Given the description of an element on the screen output the (x, y) to click on. 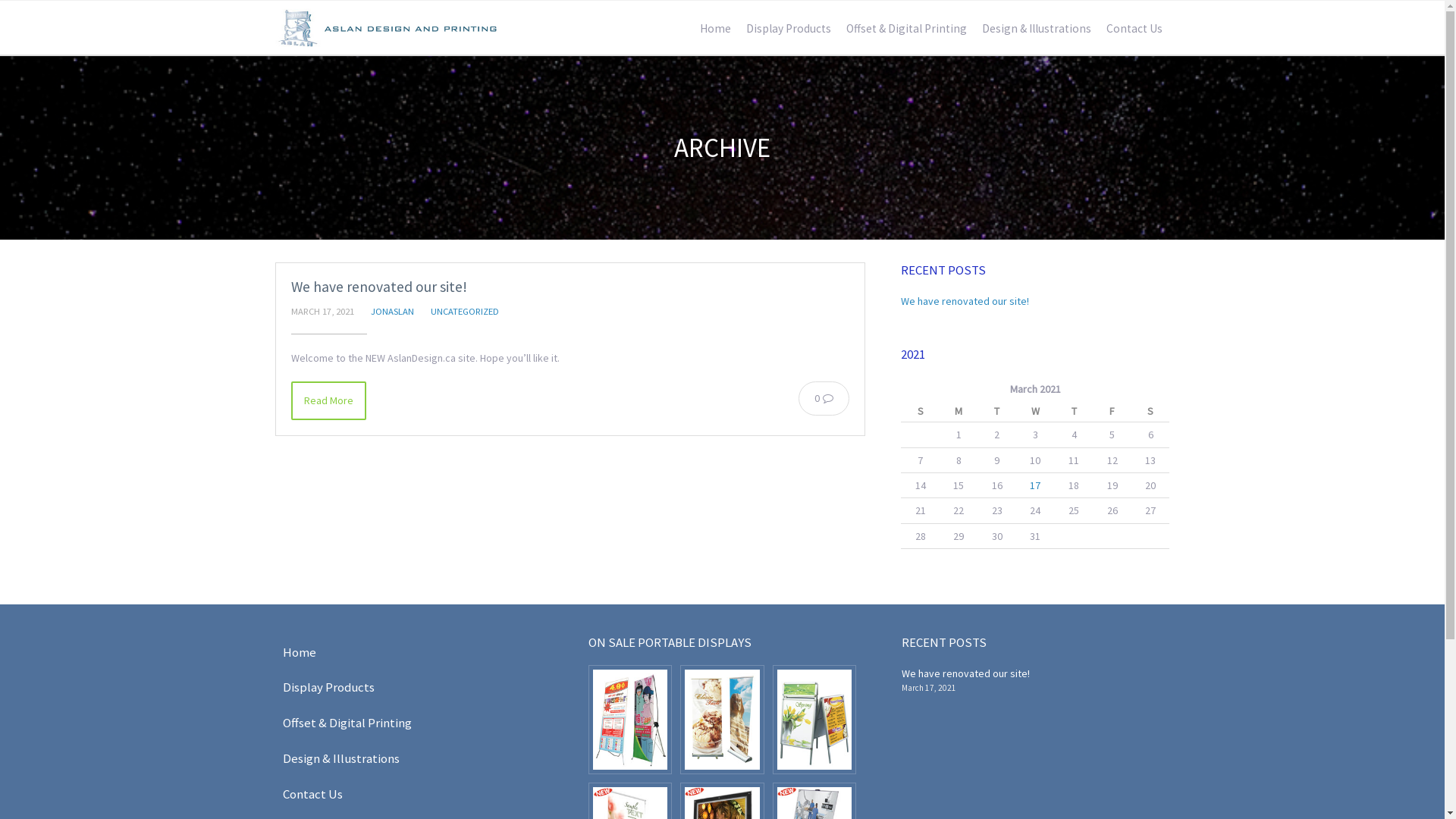
Read More Element type: text (328, 400)
We have renovated our site! Element type: text (964, 673)
JONASLAN Element type: text (391, 310)
We have renovated our site! Element type: text (964, 300)
0 Element type: text (823, 397)
Display Products Element type: text (788, 29)
Display Products Element type: text (408, 687)
UNCATEGORIZED Element type: text (464, 310)
Home Element type: text (714, 29)
We have renovated our site! Element type: text (379, 286)
Offset & Digital Printing Element type: text (906, 29)
17 Element type: text (1034, 485)
Home Element type: text (408, 652)
Design & Illustrations Element type: text (1035, 29)
Design & Illustrations Element type: text (408, 758)
Offset & Digital Printing Element type: text (408, 722)
Contact Us Element type: text (1133, 29)
Contact Us Element type: text (408, 794)
